Given the description of an element on the screen output the (x, y) to click on. 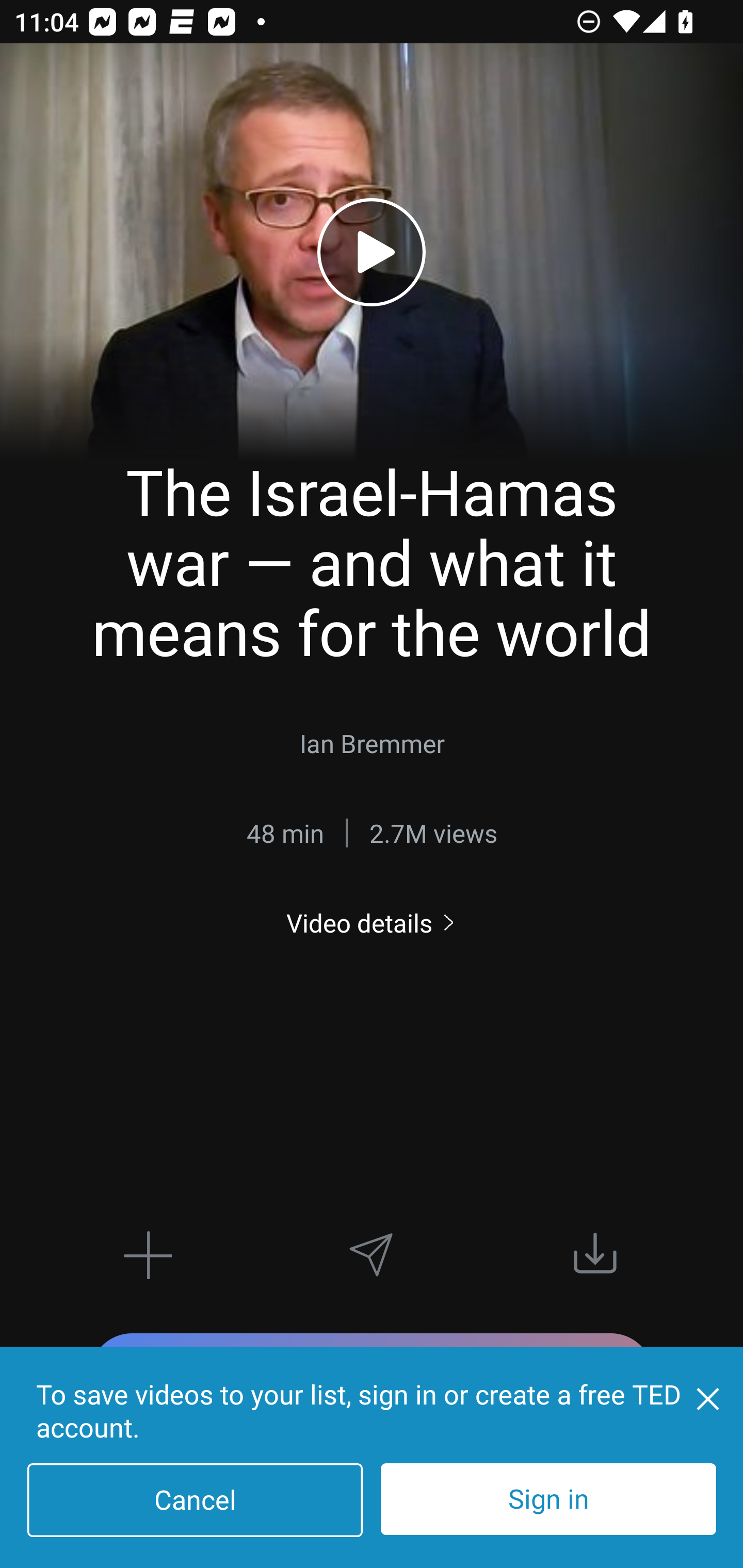
Video details (371, 922)
Cancel (194, 1499)
Sign in (548, 1498)
